Given the description of an element on the screen output the (x, y) to click on. 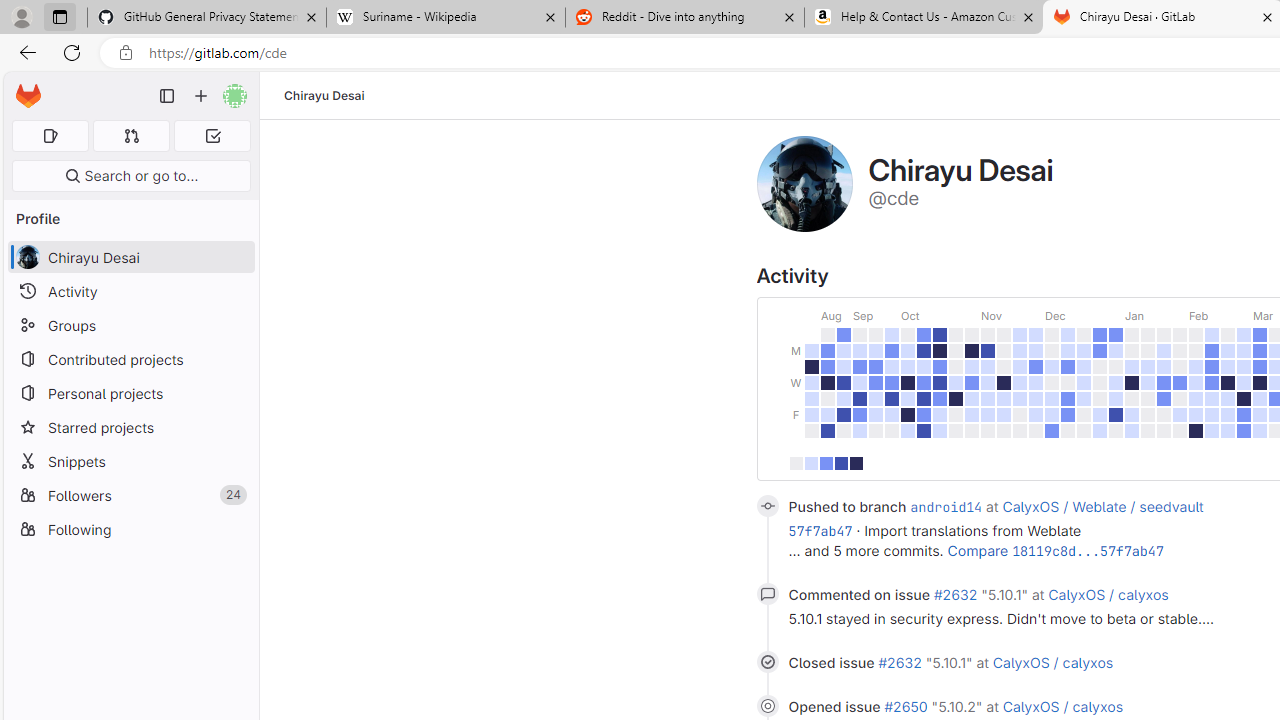
CalyxOS / Weblate / seedvault (1103, 506)
Snippets (130, 461)
Chirayu Desai (324, 95)
No contributions (795, 463)
Suriname - Wikipedia (445, 17)
